Given the description of an element on the screen output the (x, y) to click on. 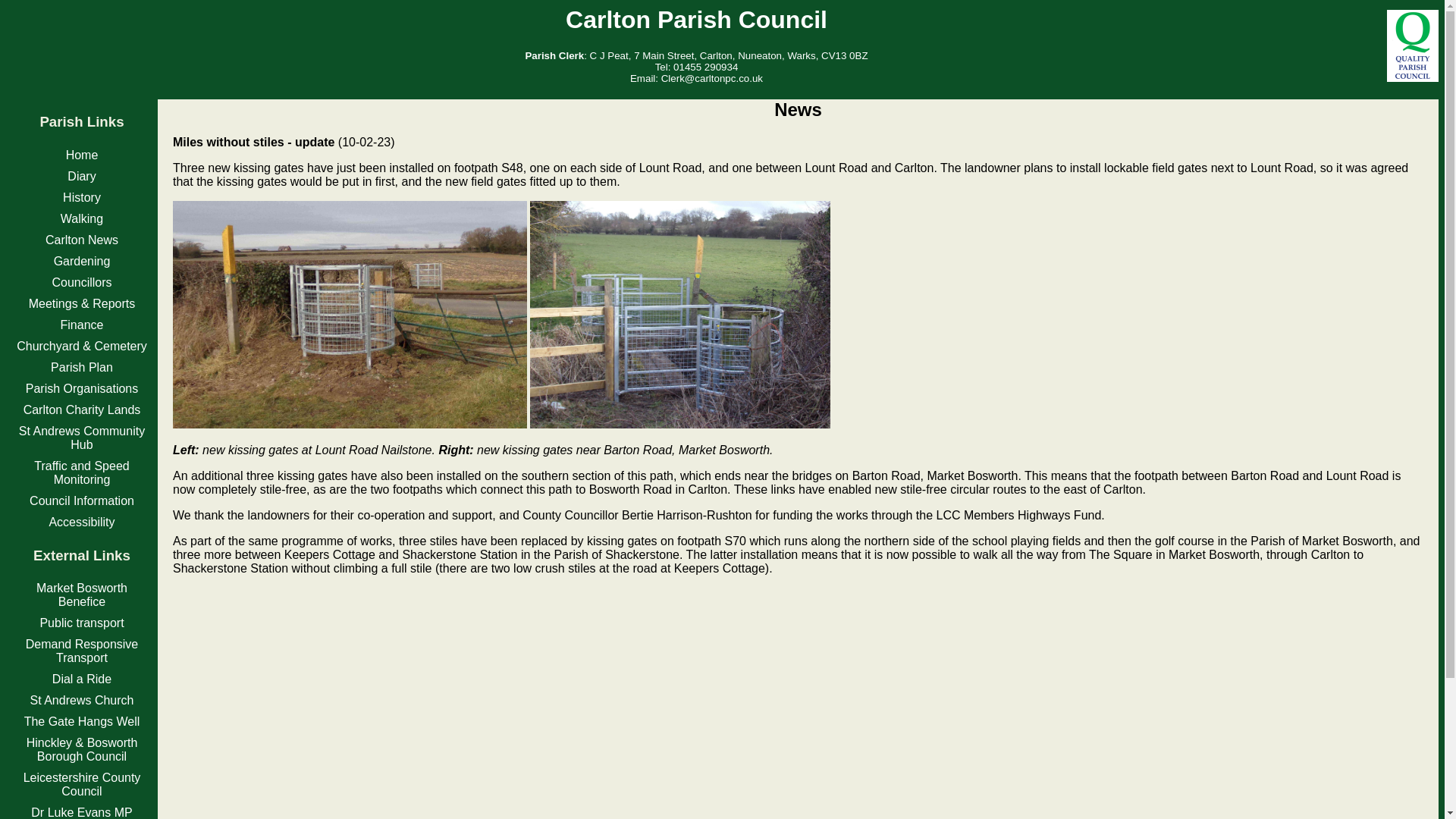
Parish Organisations (82, 388)
The Gate Hangs Well (81, 721)
Parish Plan (81, 367)
Market Bosworth Benefice (82, 594)
Dr Luke Evans MP (81, 812)
Carlton News (81, 239)
Accessibility (81, 521)
Public transport (81, 622)
Traffic and Speed Monitoring (81, 472)
Dial a Ride (82, 678)
Gardening (81, 260)
Diary (81, 175)
St Andrews Community Hub (81, 438)
Walking (82, 218)
Council Information (81, 500)
